Given the description of an element on the screen output the (x, y) to click on. 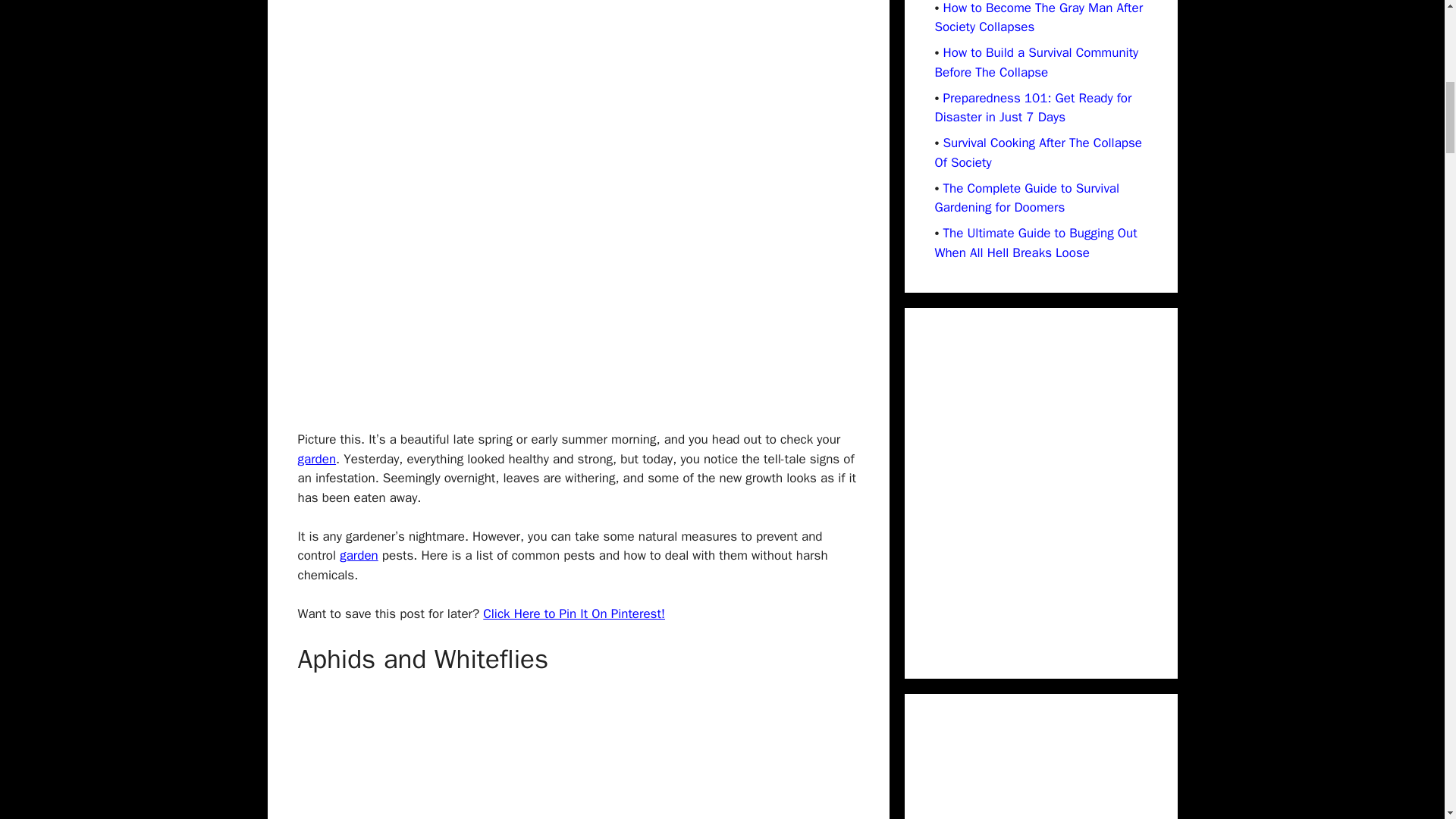
Backyard Liberty (358, 555)
Backyard Liberty (316, 458)
garden (316, 458)
